Given the description of an element on the screen output the (x, y) to click on. 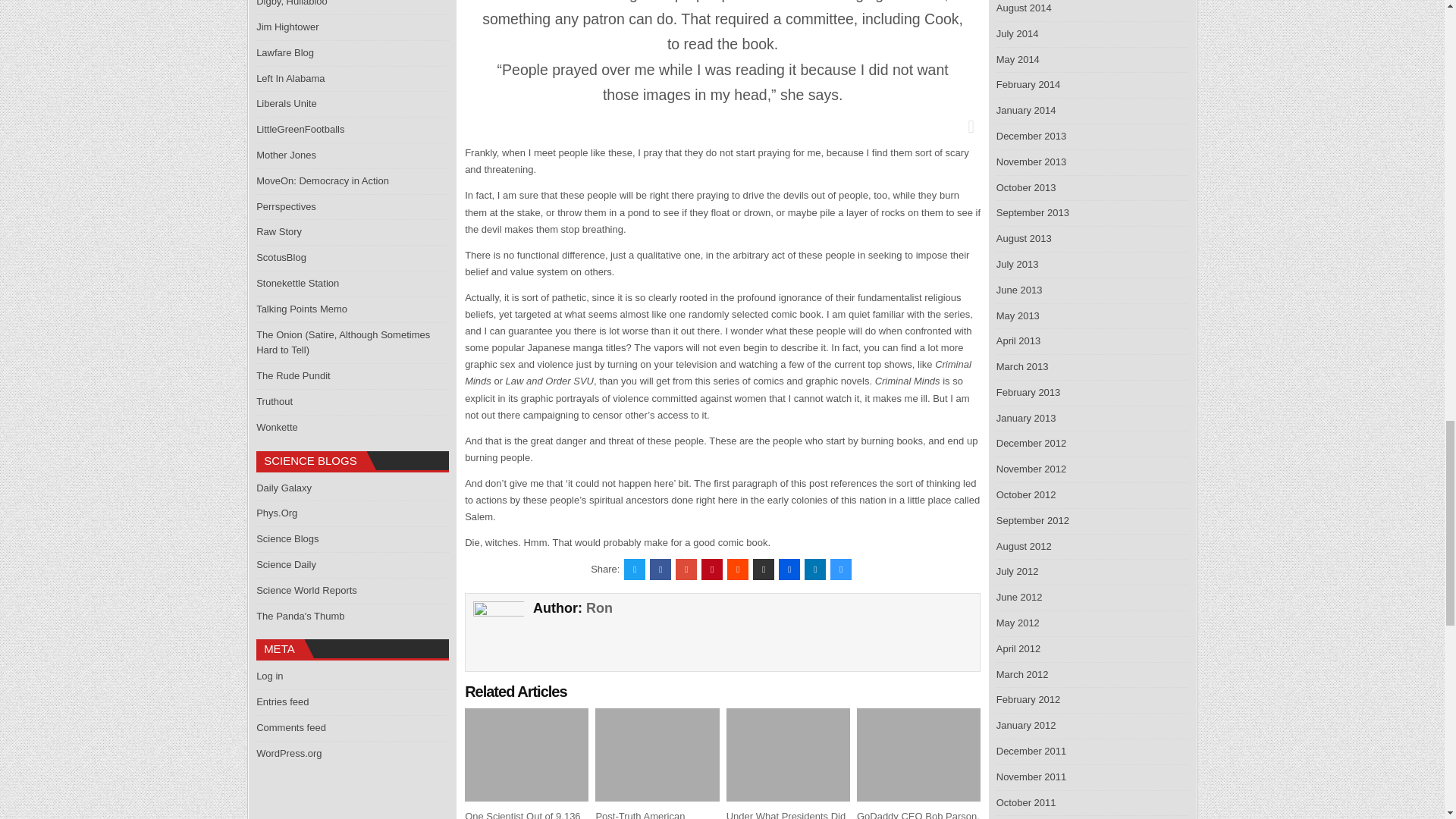
Post-Truth American Elections (639, 814)
Share this on Digg (788, 568)
Share this on Pinterest (711, 568)
Share this on Reddit (737, 568)
Ron (599, 607)
Share this on Delicious (840, 568)
Share this on Linkedin (815, 568)
Tweet This! (634, 568)
Permanent Link to Post-Truth American Elections (657, 754)
Permanent Link to Post-Truth American Elections (639, 814)
